Given the description of an element on the screen output the (x, y) to click on. 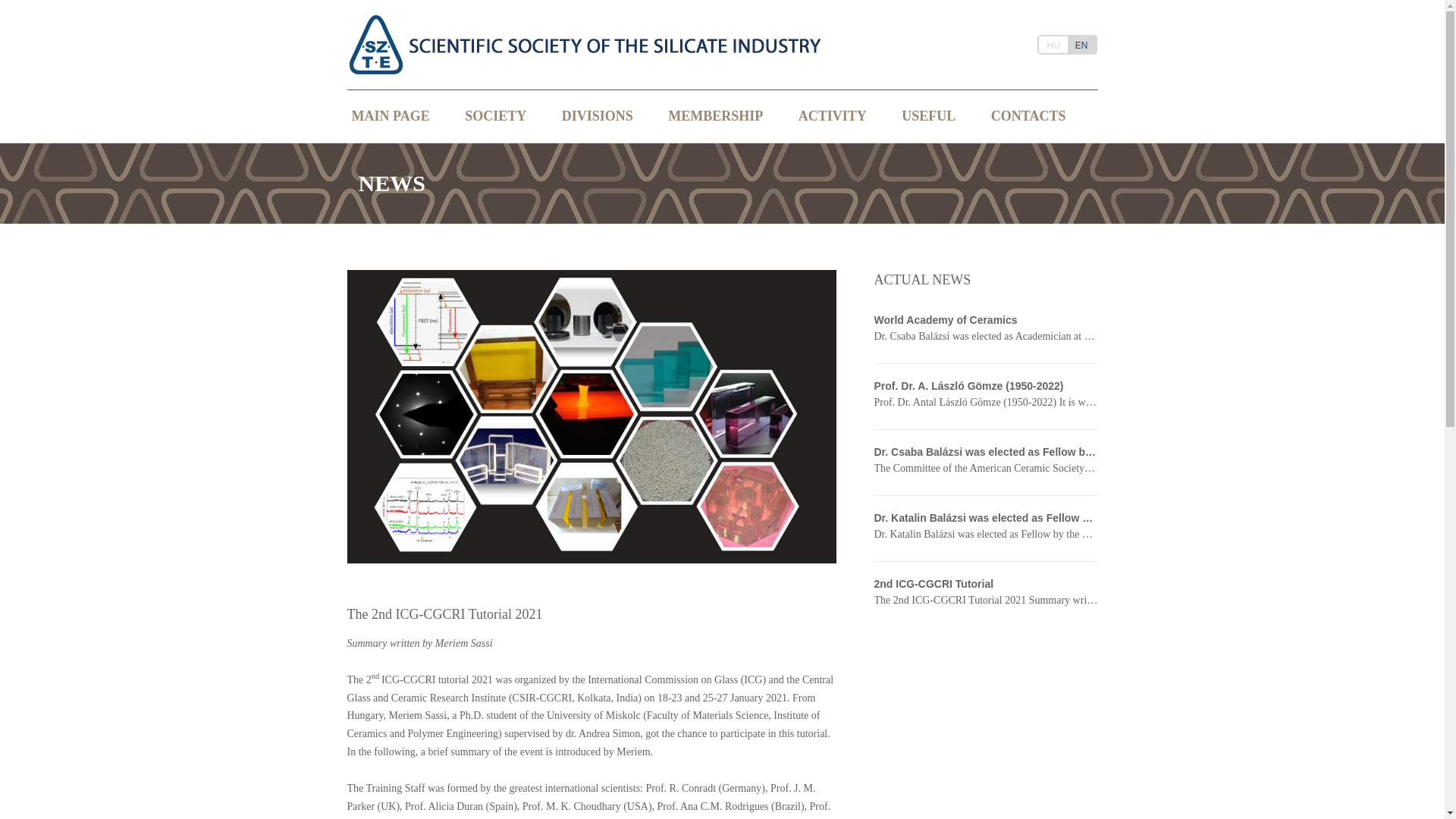
HU (1053, 45)
2nd ICG-CGCRI Tutorial (985, 583)
World Academy of Ceramics (985, 320)
MEMBERSHIP (715, 116)
World Academy of Ceramics (985, 320)
USEFUL (928, 116)
CONTACTS (1028, 116)
MAIN PAGE (389, 116)
EN (1081, 45)
2nd ICG-CGCRI Tutorial (985, 583)
